Given the description of an element on the screen output the (x, y) to click on. 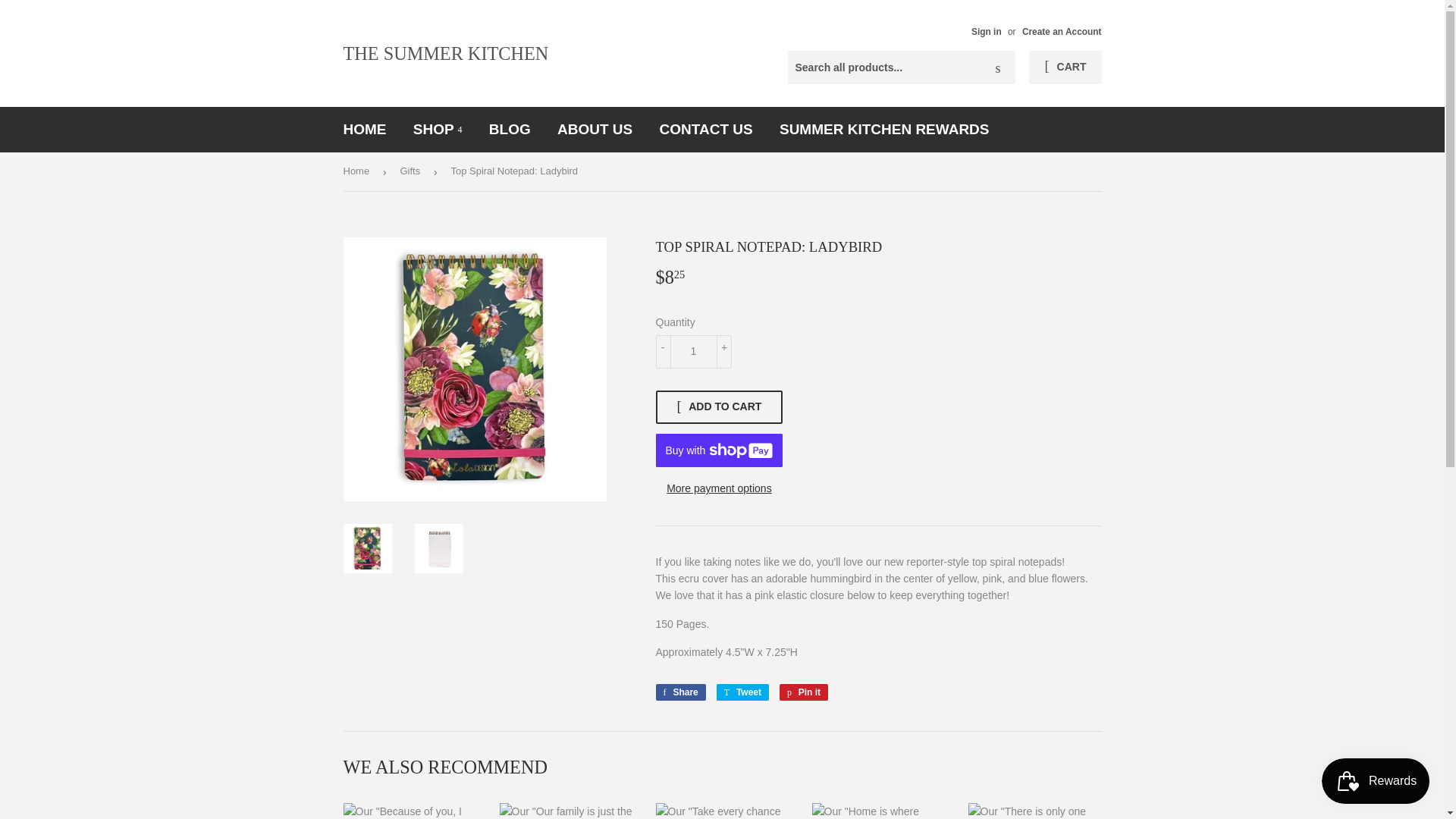
THE SUMMER KITCHEN (532, 53)
Sign in (986, 31)
Smile.io Rewards Program Launcher (1375, 780)
SHOP (437, 129)
Share on Facebook (679, 692)
Create an Account (1062, 31)
Search (997, 68)
Tweet on Twitter (742, 692)
Pin on Pinterest (803, 692)
HOME (364, 129)
1 (692, 351)
CART (1064, 67)
